Given the description of an element on the screen output the (x, y) to click on. 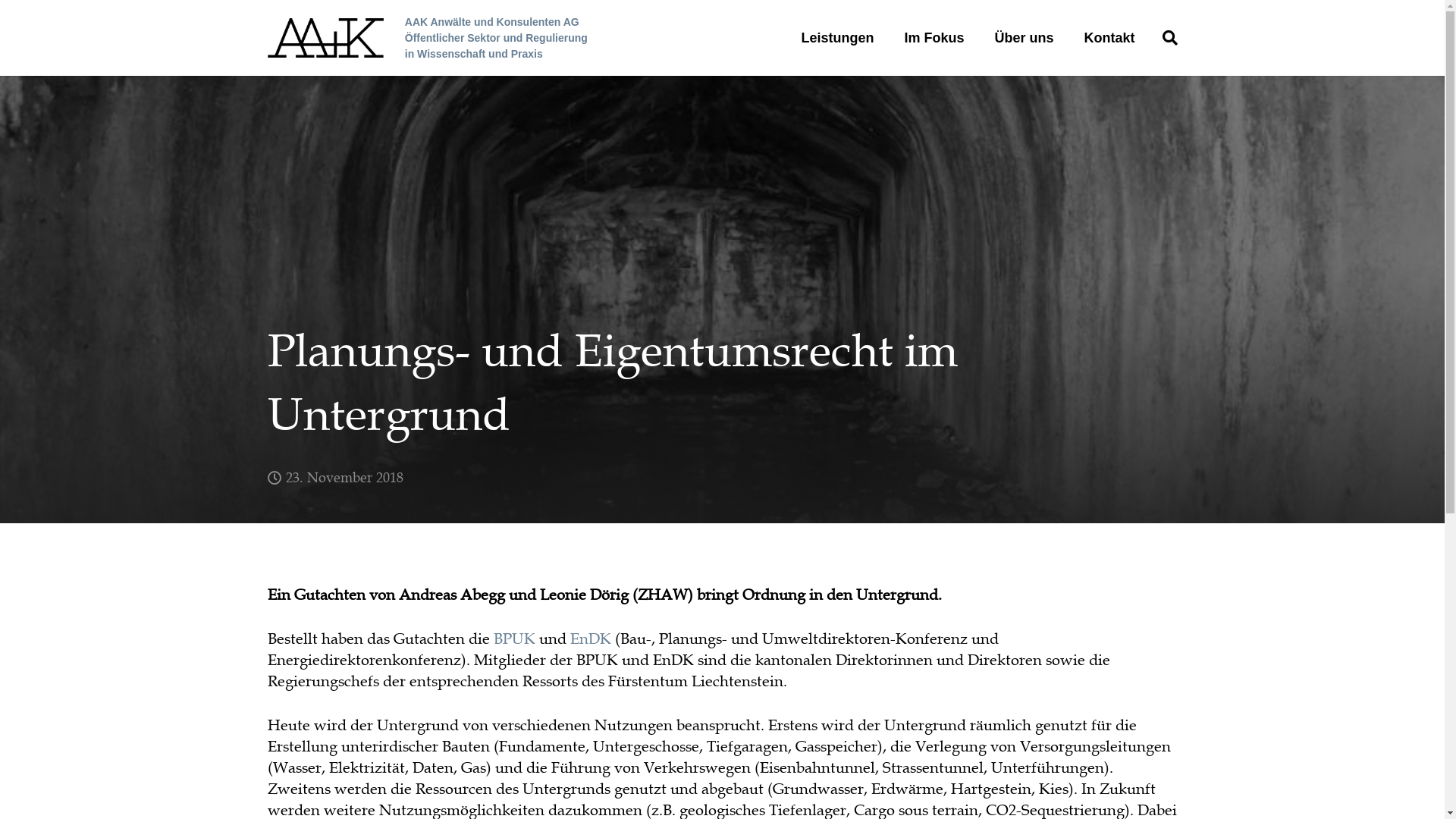
BPUK Element type: text (513, 638)
Leistungen Element type: text (836, 37)
EnDK Element type: text (590, 638)
Im Fokus Element type: text (933, 37)
Kontakt Element type: text (1109, 37)
Suchen Element type: hover (1169, 37)
